Given the description of an element on the screen output the (x, y) to click on. 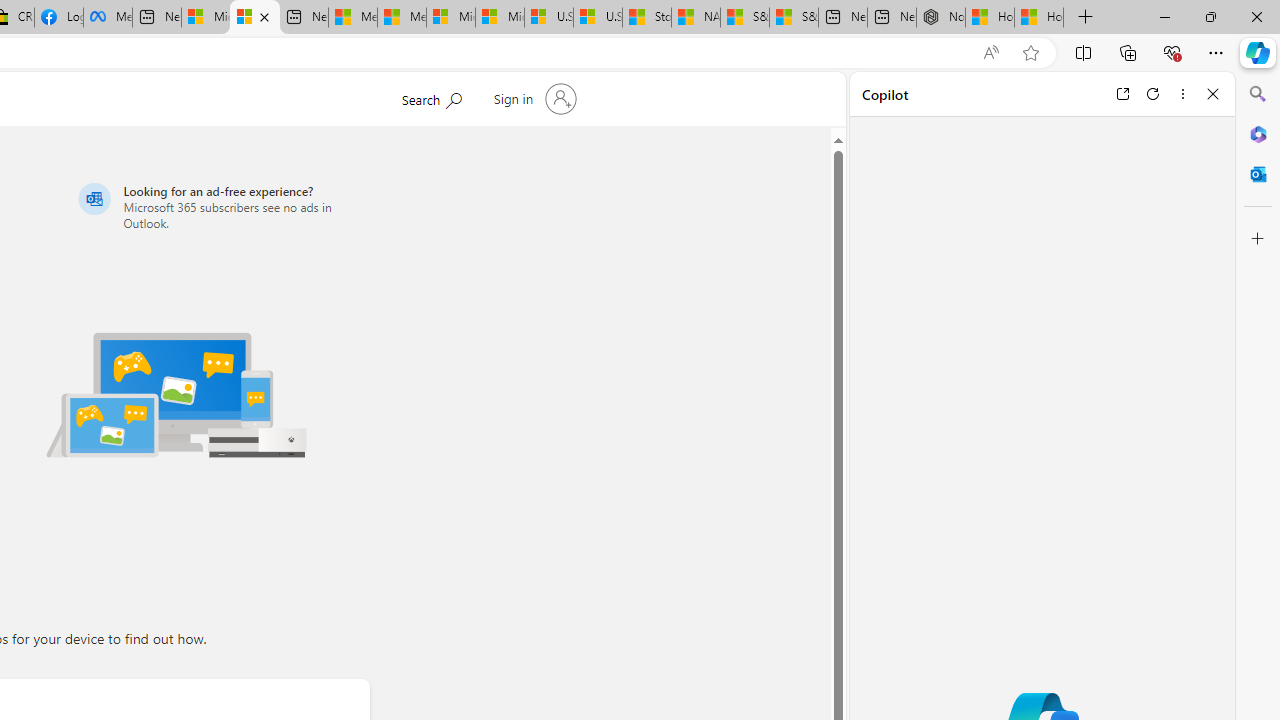
Open link in new tab (1122, 93)
Meta Store (107, 17)
Outlook (1258, 174)
